Given the description of an element on the screen output the (x, y) to click on. 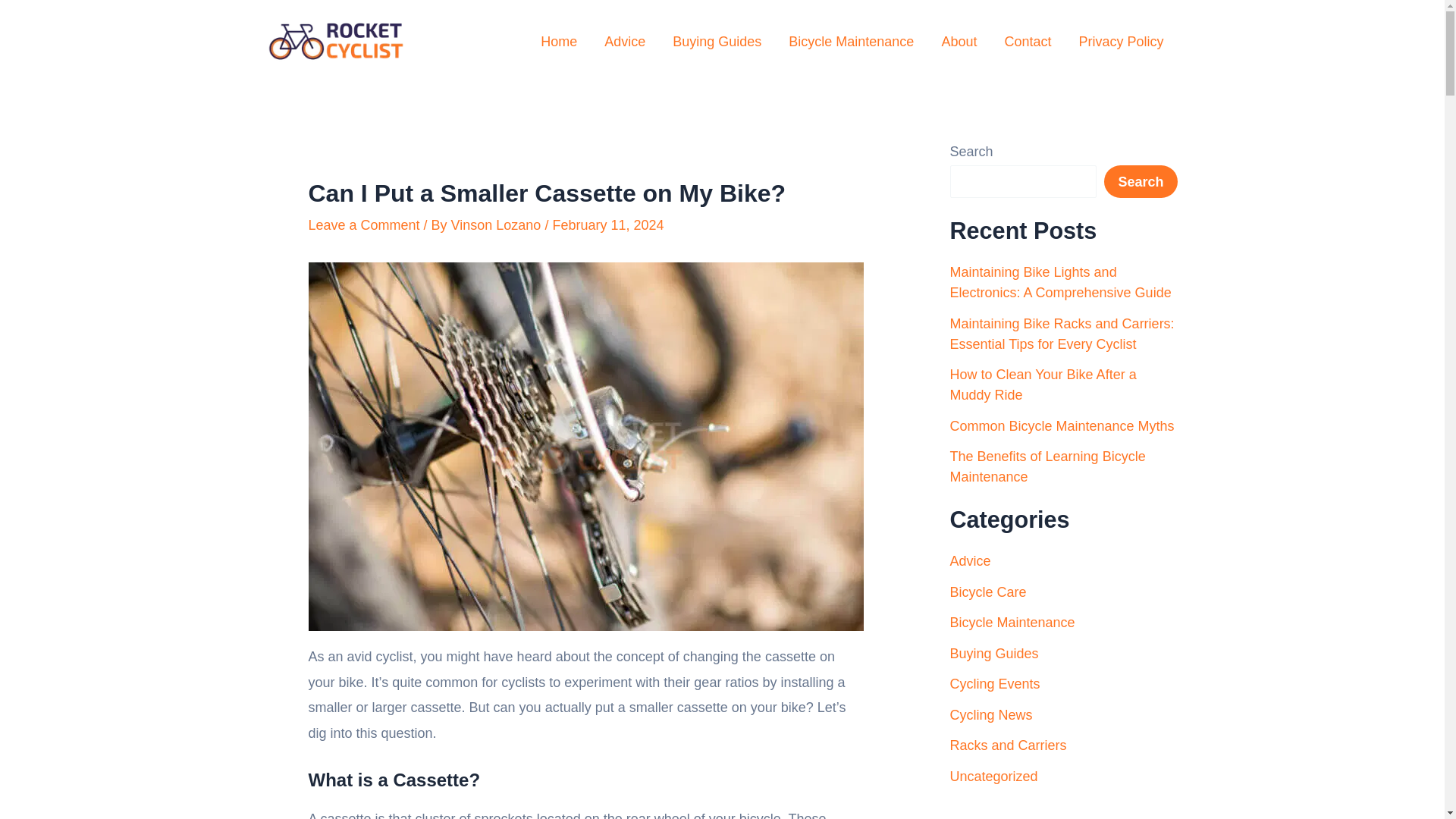
Bicycle Maintenance (850, 41)
Bicycle Maintenance (1011, 622)
Contact (1027, 41)
View all posts by Vinson Lozano (497, 224)
The Benefits of Learning Bicycle Maintenance (1046, 466)
Buying Guides (716, 41)
Vinson Lozano (497, 224)
Advice (969, 560)
How to Clean Your Bike After a Muddy Ride (1042, 384)
Privacy Policy (1120, 41)
Leave a Comment (363, 224)
Bicycle Care (987, 591)
Search (1139, 181)
